Given the description of an element on the screen output the (x, y) to click on. 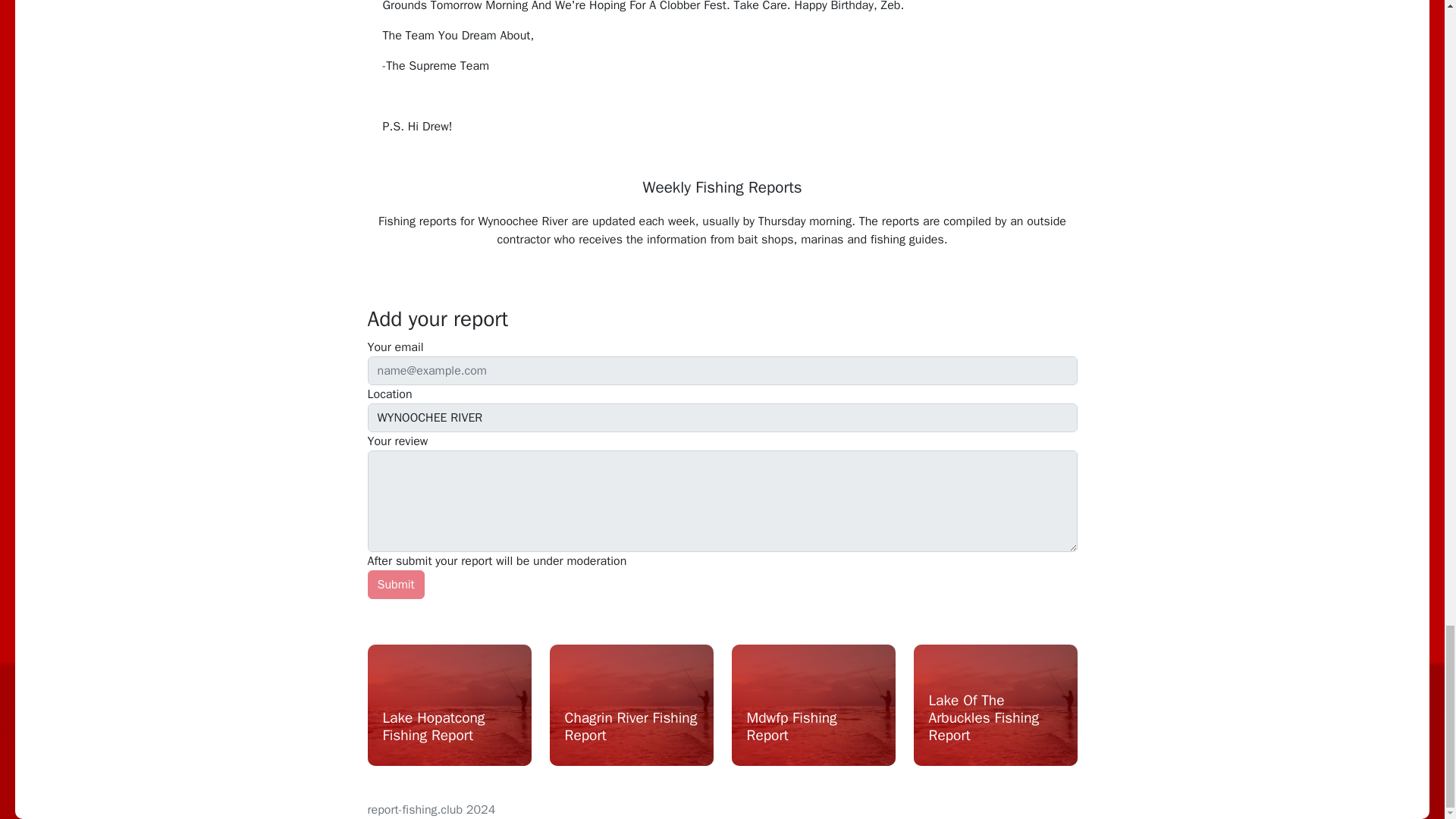
Chagrin River Fishing Report (630, 730)
WYNOOCHEE RIVER (721, 417)
Submit (394, 584)
Lake Hopatcong Fishing Report (448, 730)
Mdwfp Fishing Report (812, 730)
Lake Of The Arbuckles Fishing Report (994, 721)
